Given the description of an element on the screen output the (x, y) to click on. 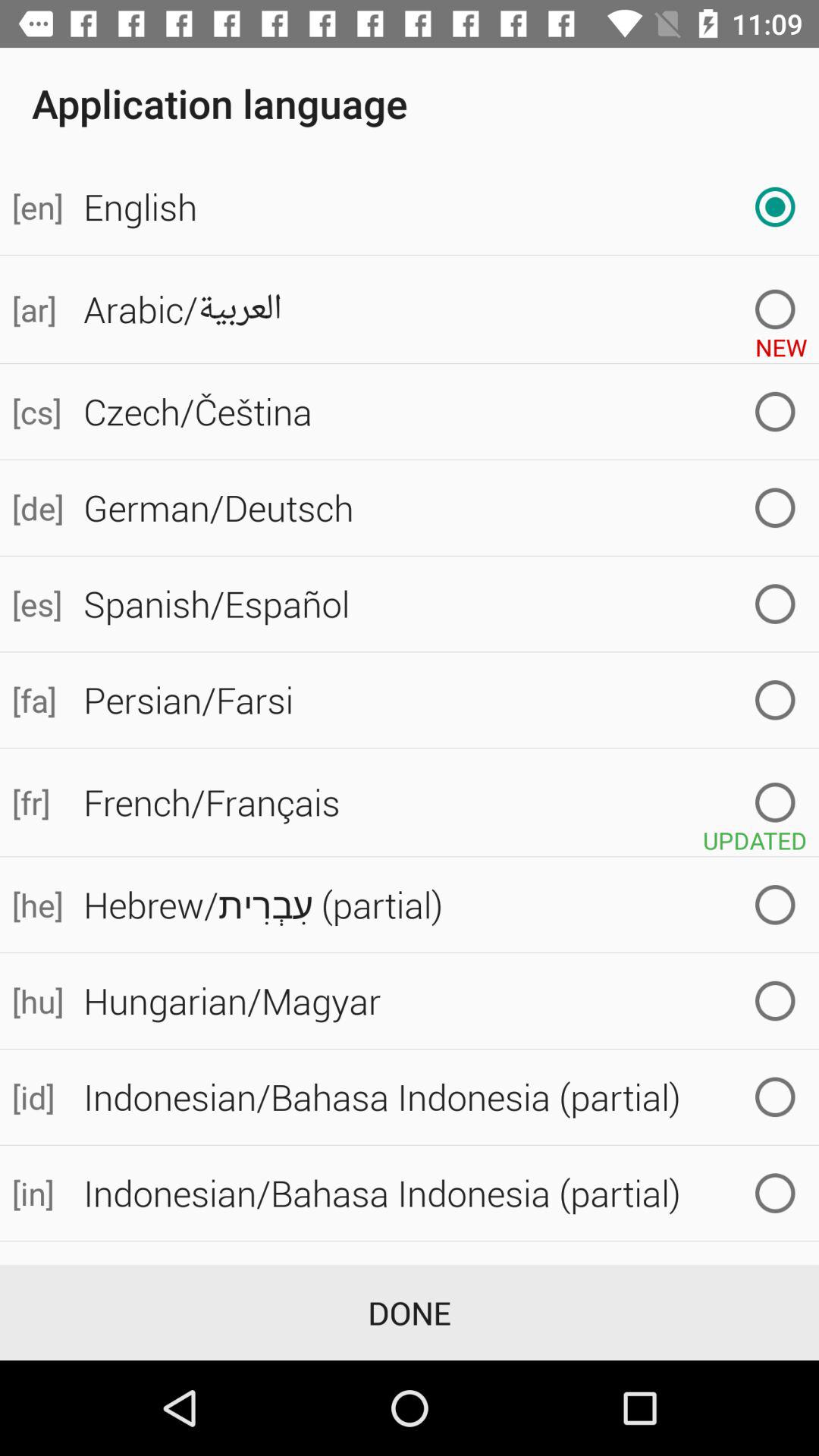
select the icon below the english (781, 341)
